Given the description of an element on the screen output the (x, y) to click on. 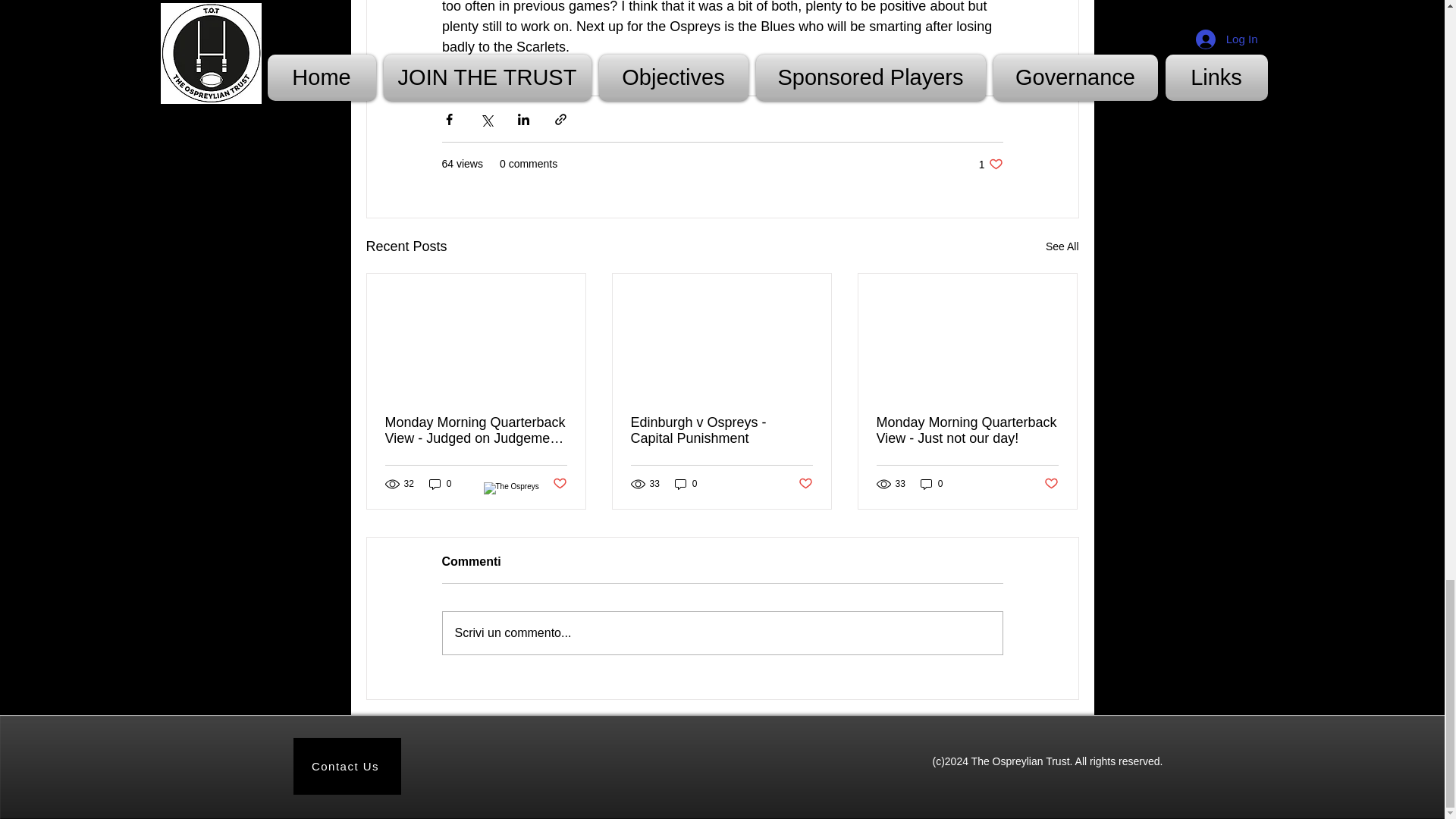
Scrivi un commento... (722, 632)
Contact Us (346, 765)
0 (931, 482)
Monday Morning Quarterback View - Judged on Judgement Day (990, 164)
Post not marked as liked (476, 430)
0 (1050, 483)
See All (440, 482)
Edinburgh v Ospreys - Capital Punishment (1061, 246)
christmas-signing-poster.jpg (721, 430)
Post not marked as liked (967, 430)
Post not marked as liked (804, 483)
0 (558, 483)
